Given the description of an element on the screen output the (x, y) to click on. 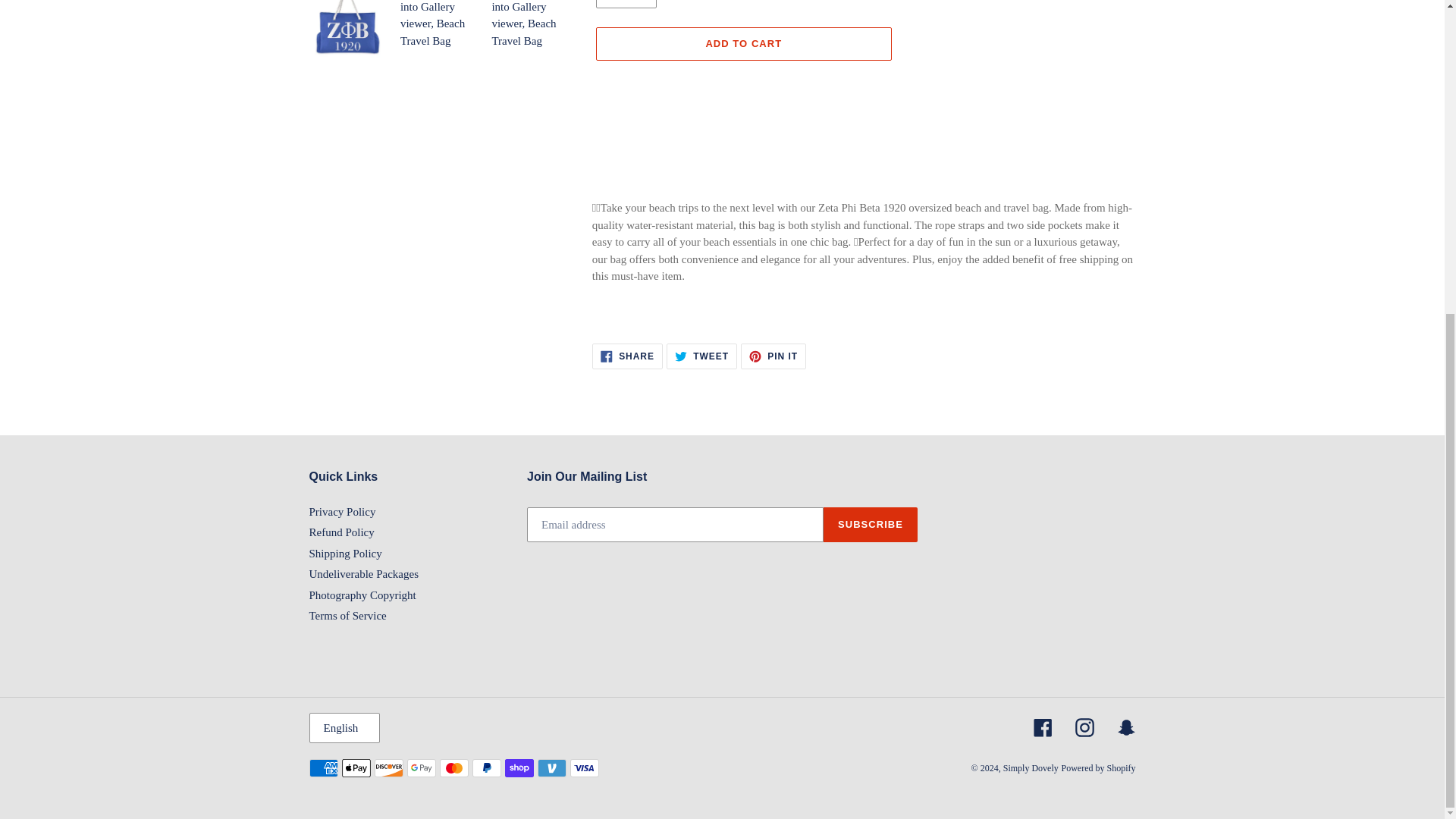
Terms of Service (347, 615)
Privacy Policy (341, 511)
Shipping Policy (344, 553)
ADD TO CART (743, 43)
Refund Policy (701, 356)
English (341, 532)
SUBSCRIBE (344, 727)
Undeliverable Packages (870, 524)
1 (363, 573)
Photography Copyright (773, 356)
